Given the description of an element on the screen output the (x, y) to click on. 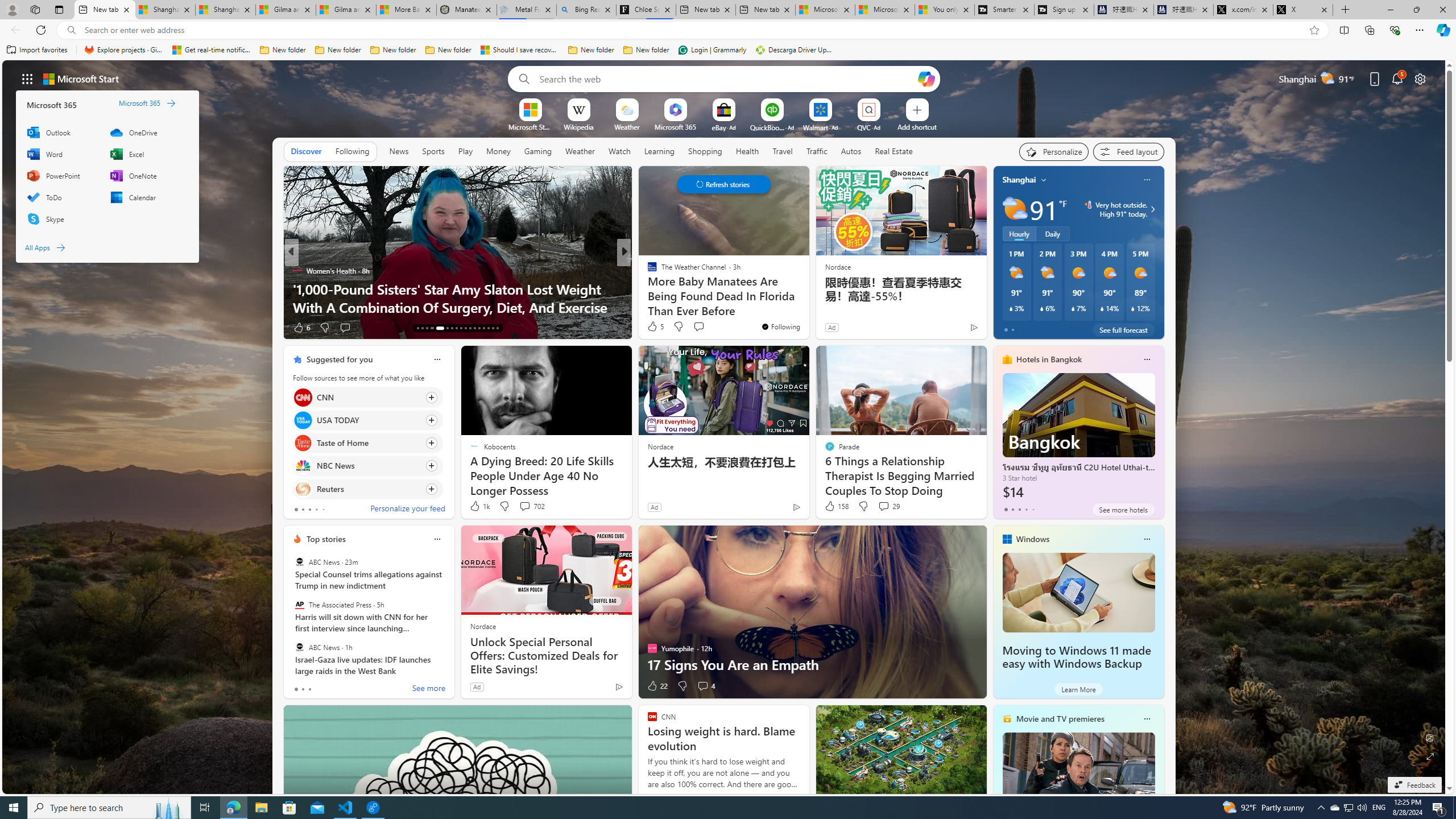
SlashGear (647, 270)
PowerPoint (61, 175)
AutomationID: tab-16 (431, 328)
Favorites bar (728, 49)
View comments 5 Comment (703, 327)
Outlook (61, 132)
17 Like (652, 327)
AutomationID: tab-22 (465, 328)
